Given the description of an element on the screen output the (x, y) to click on. 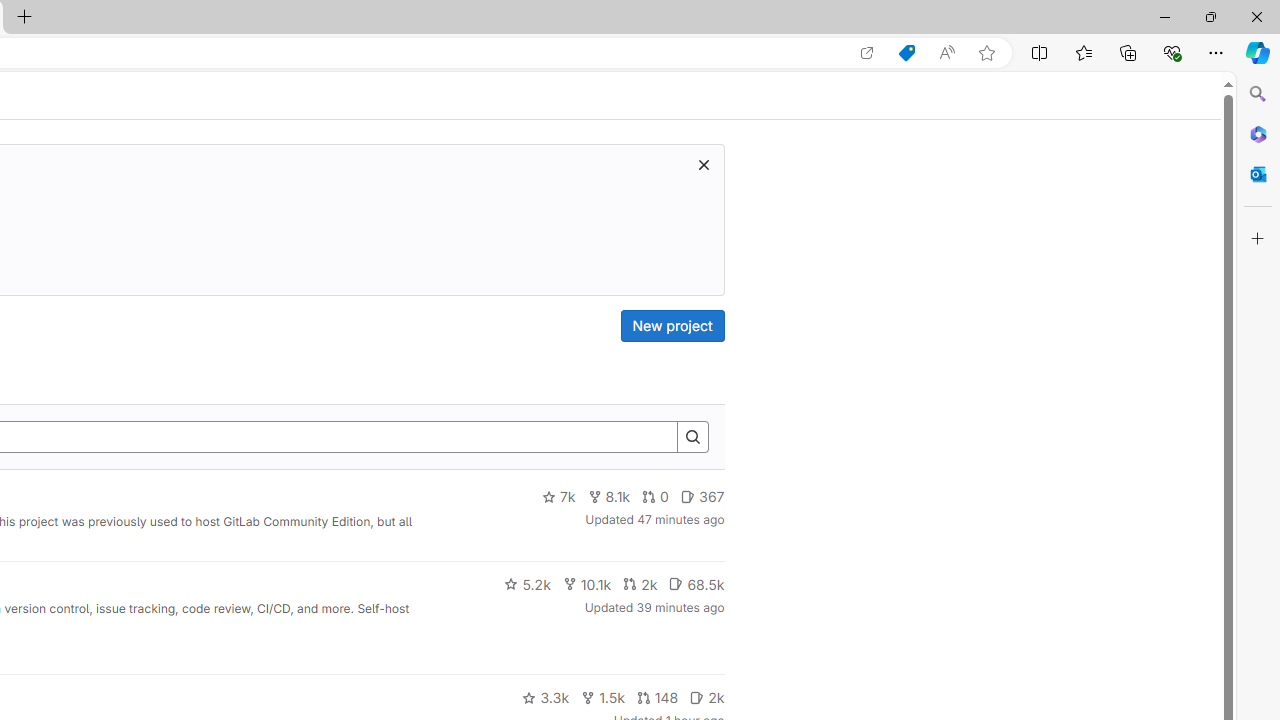
8.1k (609, 497)
Open in app (867, 53)
3.3k (545, 697)
Class: s14 gl-mr-2 (697, 696)
7k (558, 497)
New project (671, 326)
10.1k (586, 583)
